Given the description of an element on the screen output the (x, y) to click on. 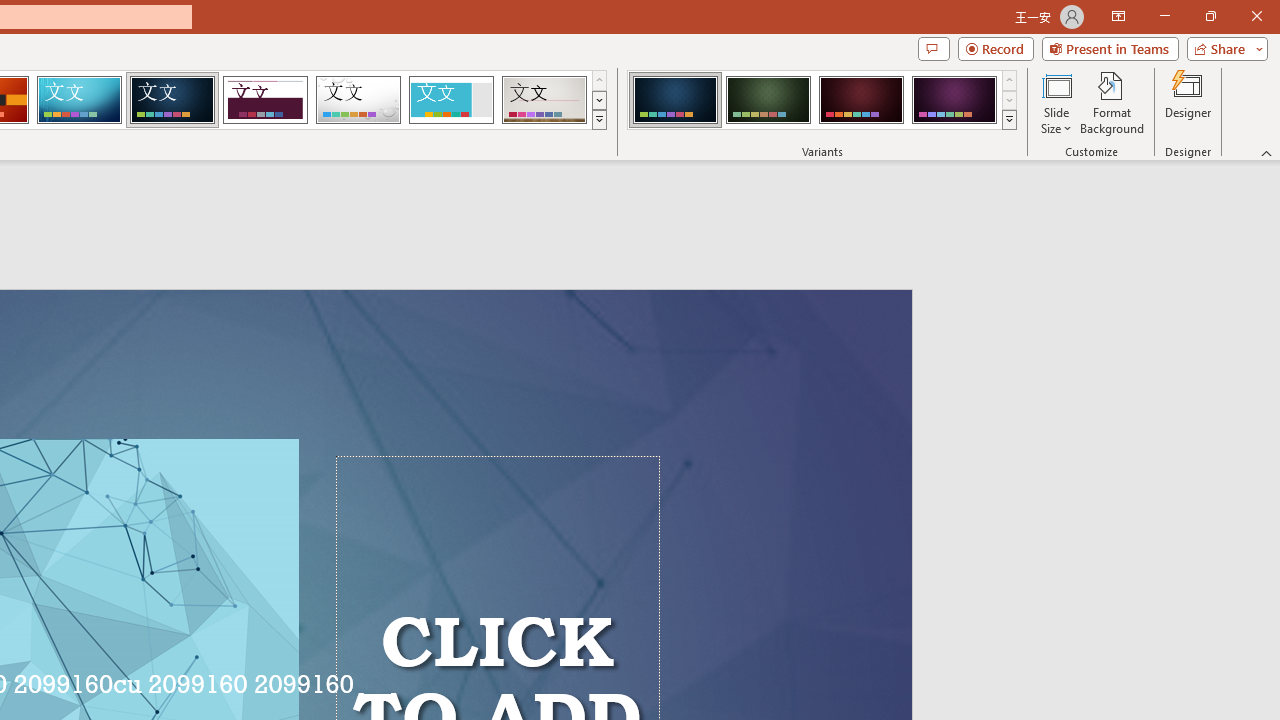
Dividend (265, 100)
Damask Variant 2 (768, 100)
Circuit (79, 100)
Damask Variant 1 (674, 100)
Variants (1009, 120)
Damask Variant 4 (953, 100)
